Given the description of an element on the screen output the (x, y) to click on. 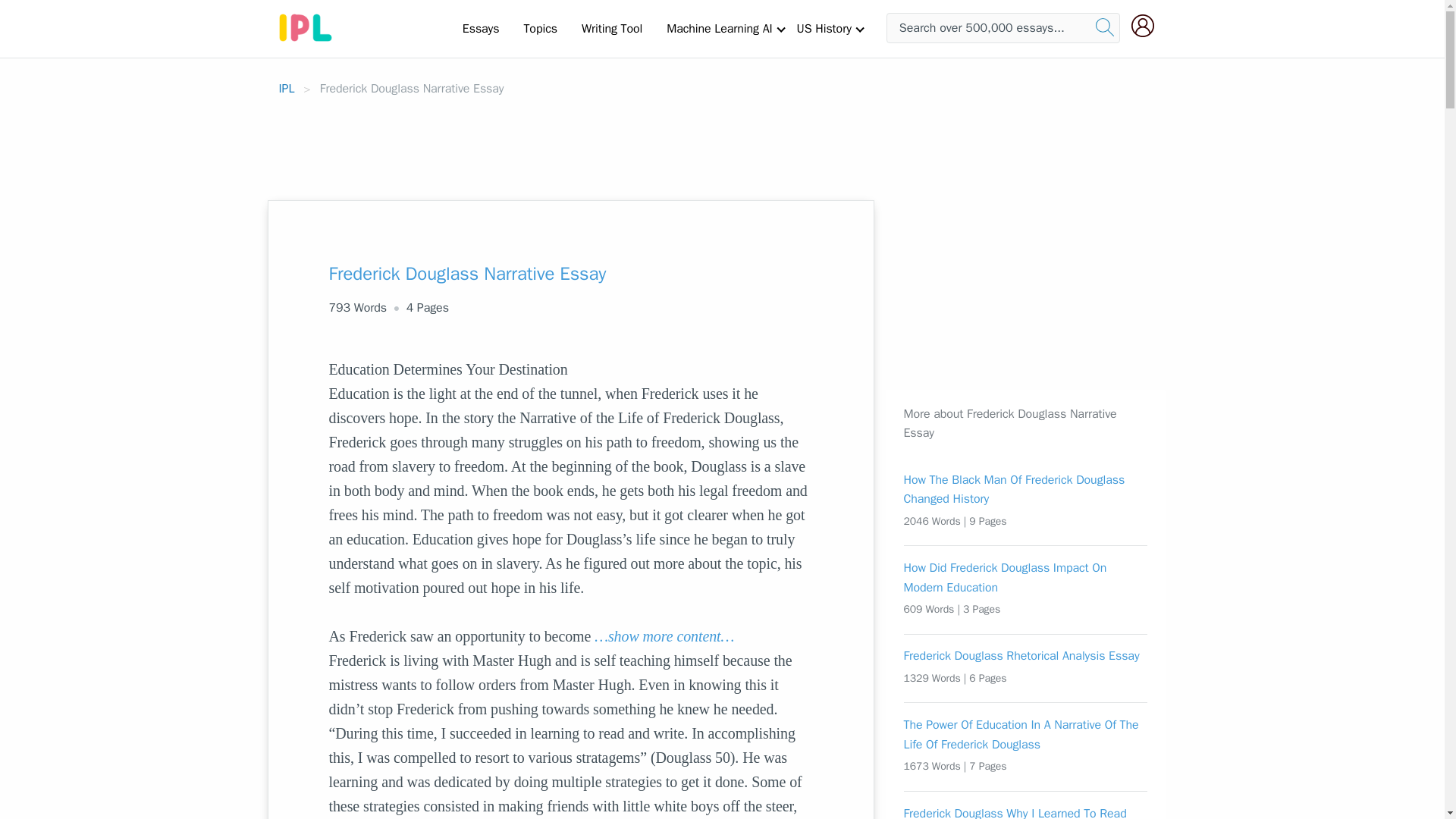
Topics (540, 28)
Writing Tool (611, 28)
Machine Learning AI (718, 28)
IPL (287, 88)
Essays (480, 28)
US History (823, 28)
